Given the description of an element on the screen output the (x, y) to click on. 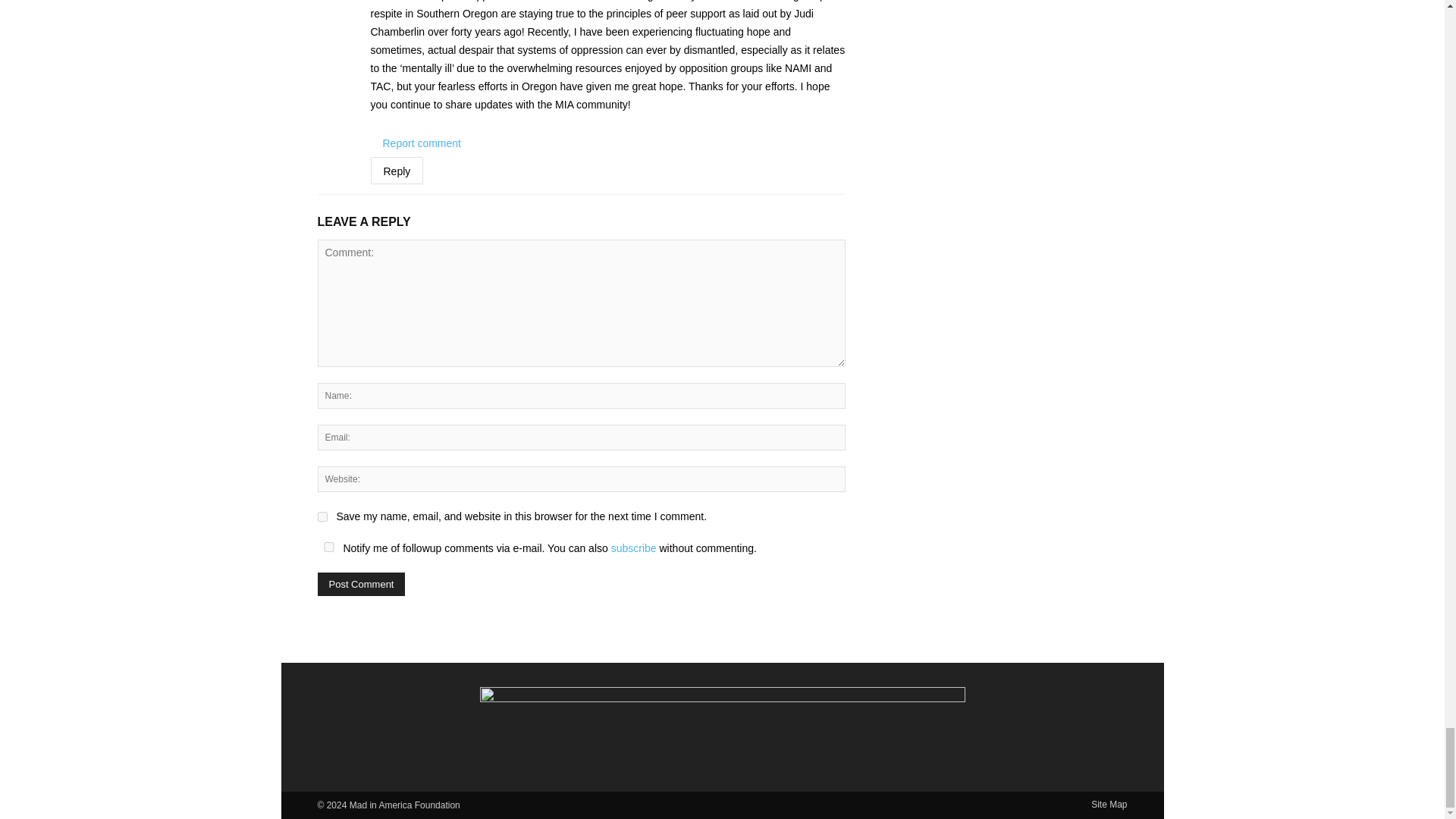
yes (328, 547)
yes (321, 516)
Post Comment (360, 584)
